Given the description of an element on the screen output the (x, y) to click on. 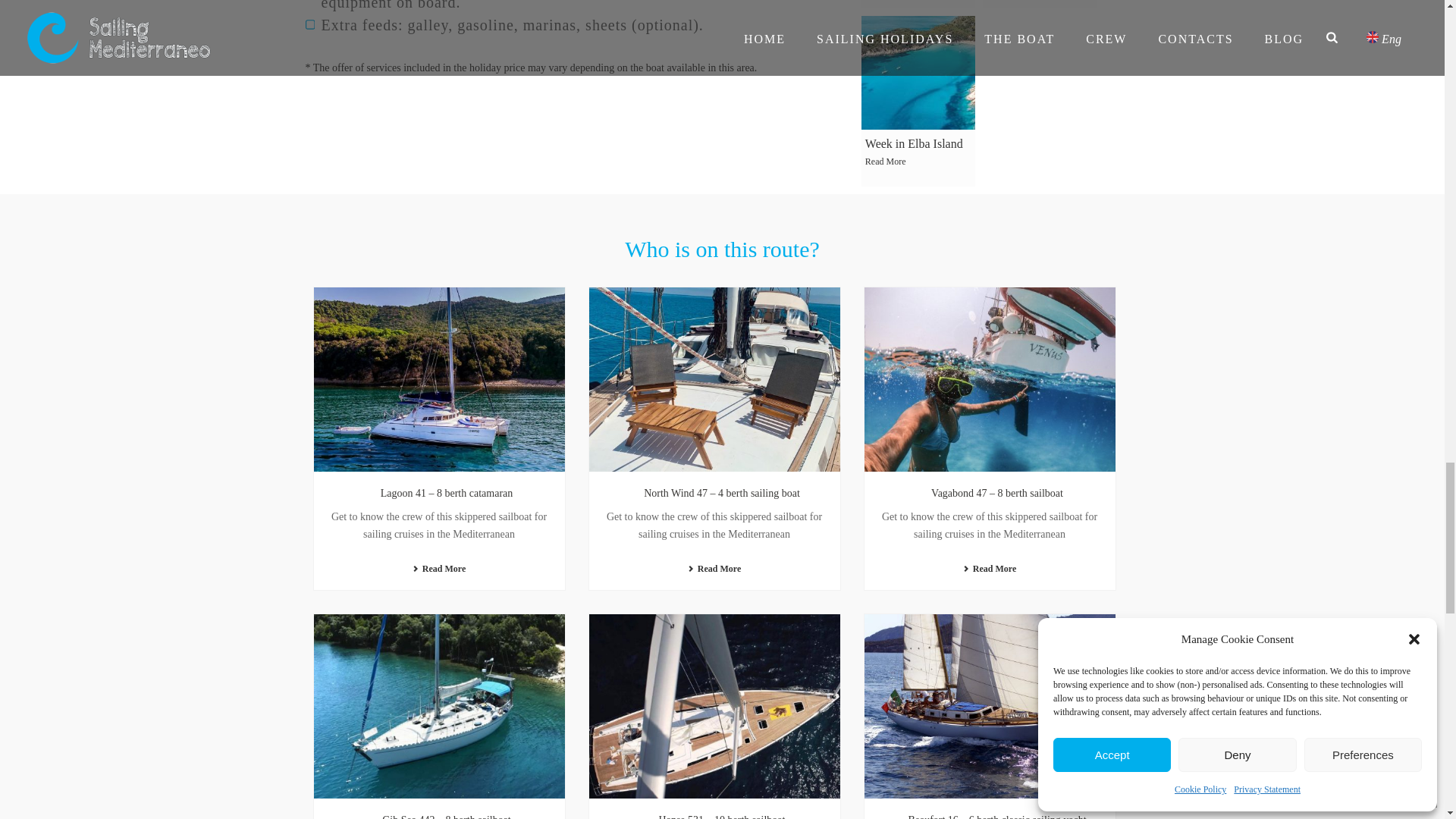
Week in Elba Island (918, 72)
